Given the description of an element on the screen output the (x, y) to click on. 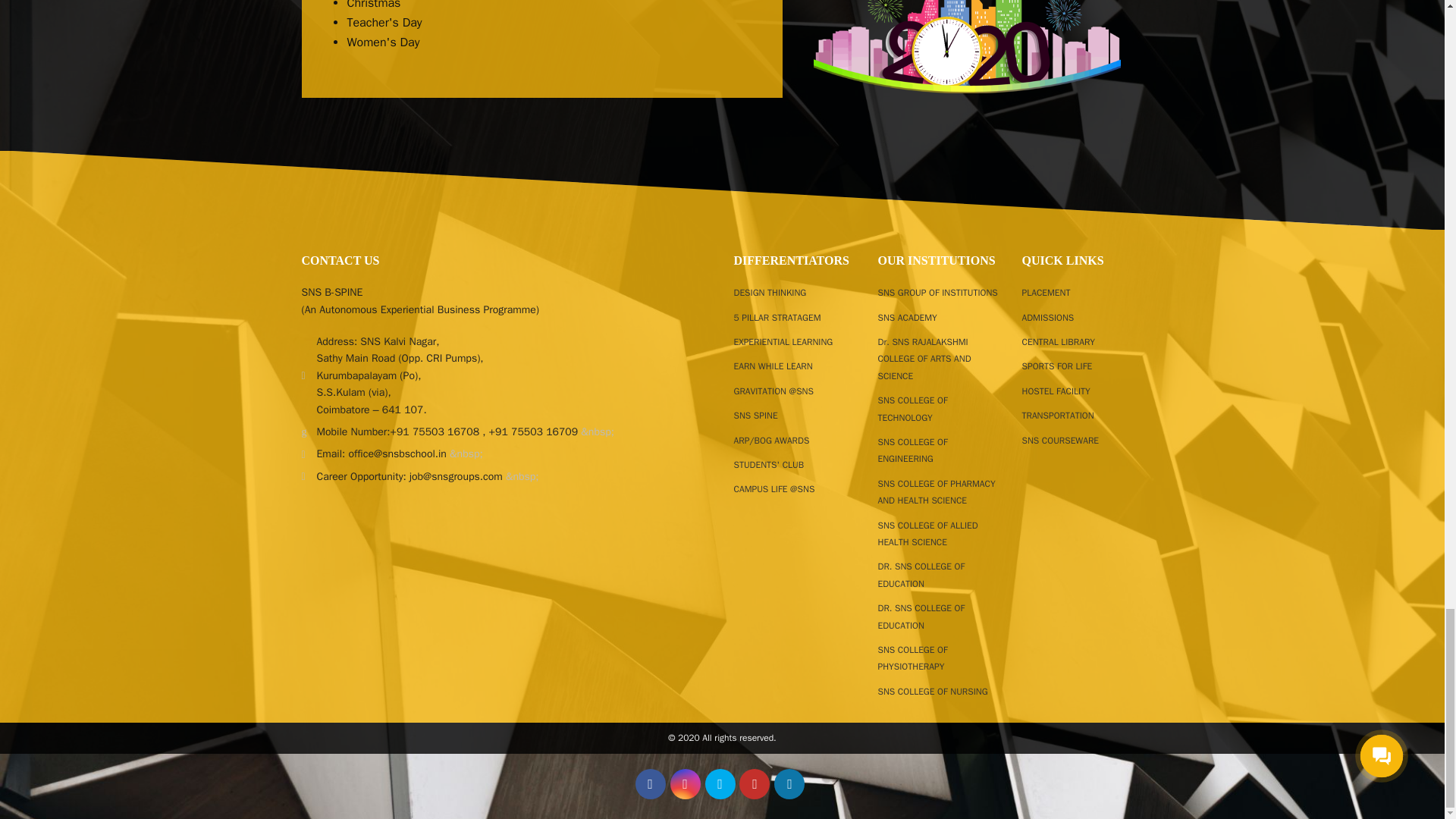
STUDENTS' CLUB (769, 464)
5 PILLAR STRATAGEM (777, 317)
EXPERIENTIAL LEARNING (782, 341)
SNS SPINE (755, 415)
Click to edit button (719, 784)
EARN WHILE LEARN (772, 366)
DESIGN THINKING (769, 292)
